Given the description of an element on the screen output the (x, y) to click on. 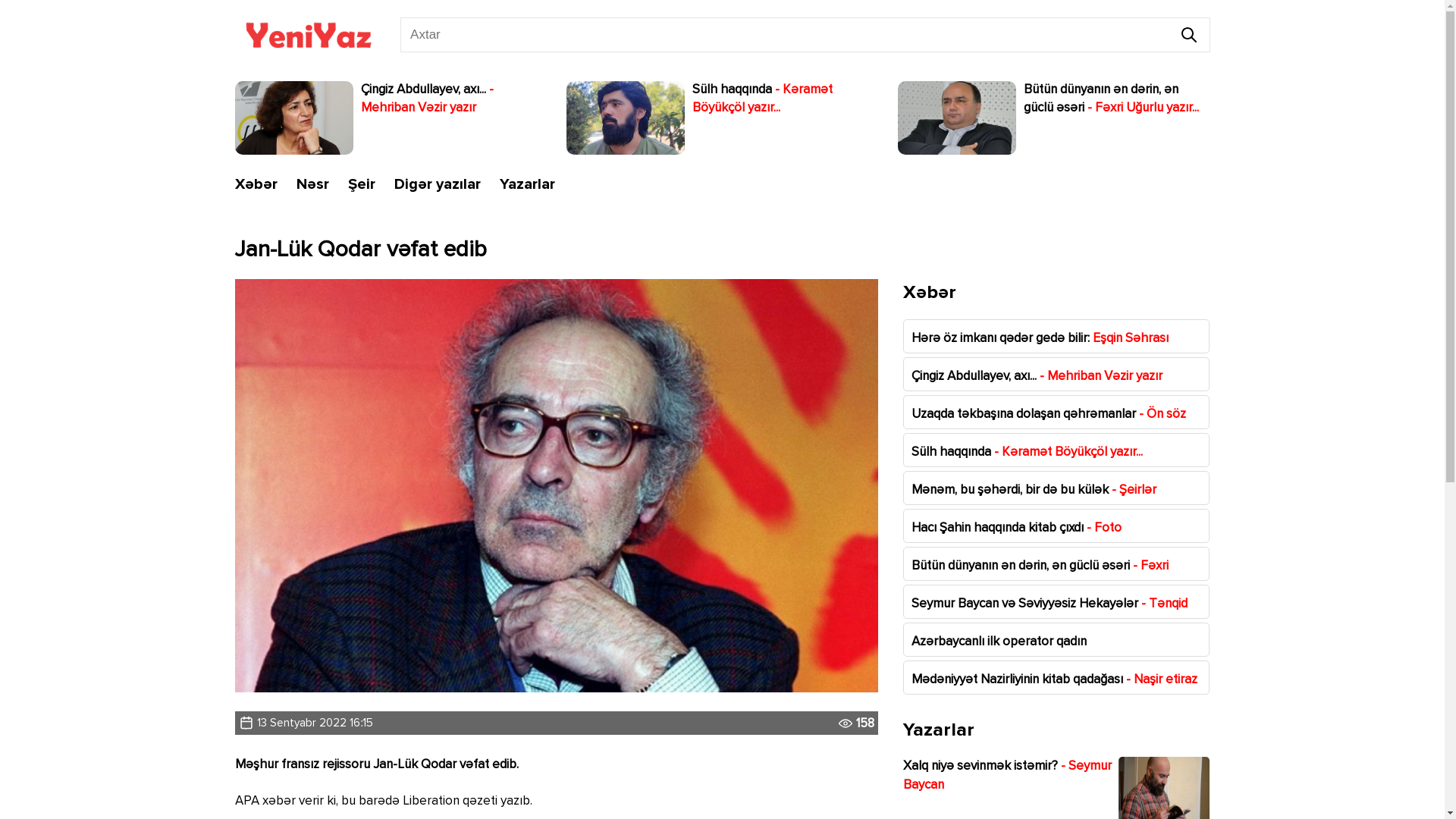
Yazarlar Element type: text (526, 184)
Yeniyaz.az Element type: hover (308, 34)
